Given the description of an element on the screen output the (x, y) to click on. 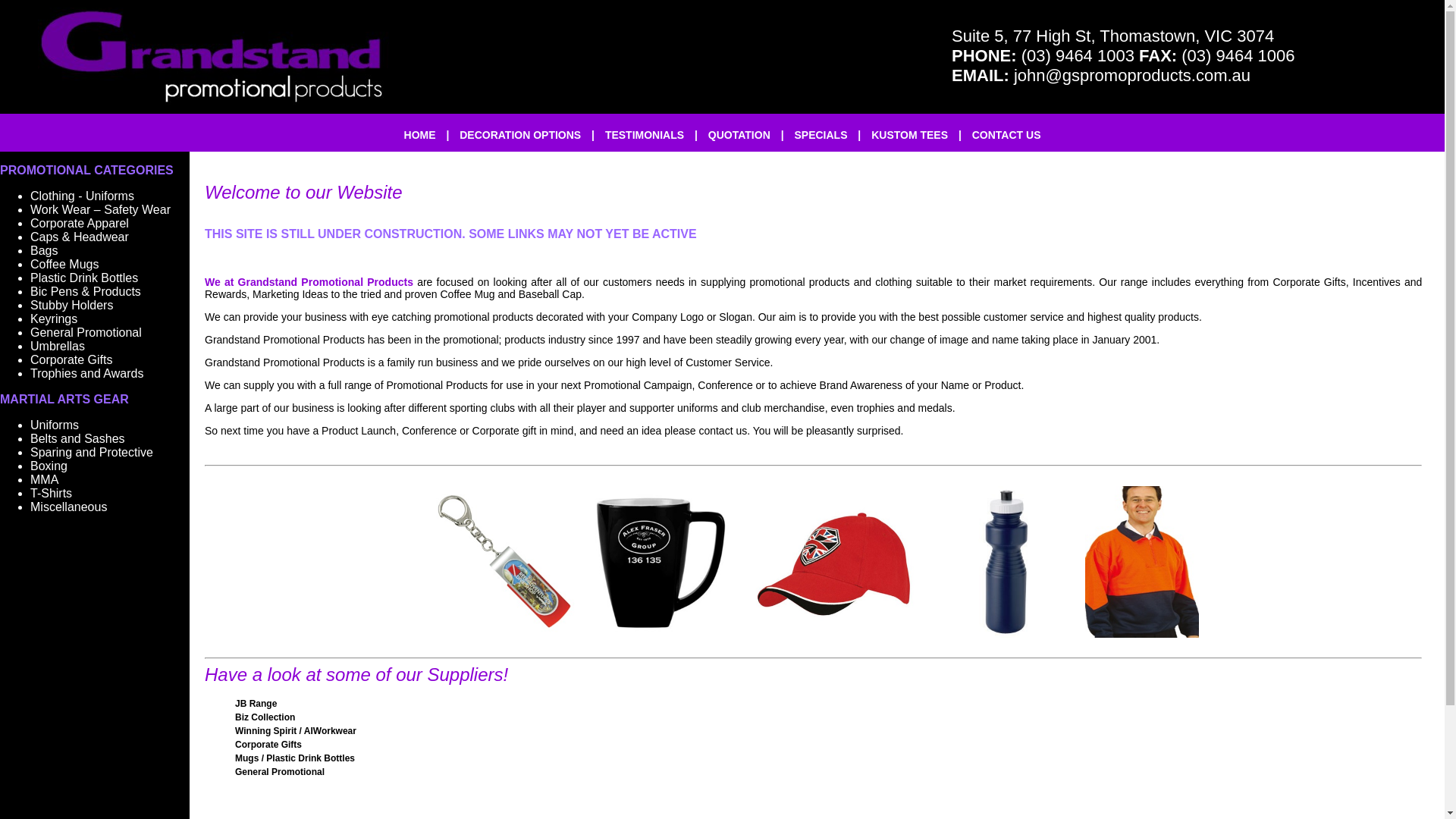
Corporate Gifts Element type: text (268, 744)
TESTIMONIALS Element type: text (644, 134)
KUSTOM TEES Element type: text (909, 134)
Umbrellas Element type: text (57, 345)
Biz Collection Element type: text (264, 717)
QUOTATION Element type: text (739, 134)
Bags Element type: text (43, 250)
Sparing and Protective Element type: text (91, 451)
Clothing - Uniforms Element type: text (82, 195)
Coffee Mugs Element type: text (64, 263)
Uniforms Element type: text (54, 424)
Bic Pens & Products Element type: text (85, 291)
Corporate Gifts Element type: text (71, 359)
Mugs / Plastic Drink Bottles Element type: text (294, 758)
Keyrings Element type: text (53, 318)
Corporate Apparel Element type: text (79, 222)
Miscellaneous Element type: text (68, 506)
DECORATION OPTIONS Element type: text (519, 134)
JB Range Element type: text (255, 703)
SPECIALS Element type: text (820, 134)
MMA Element type: text (44, 479)
Trophies and Awards Element type: text (86, 373)
CONTACT US Element type: text (1006, 134)
HOME Element type: text (419, 134)
T-Shirts Element type: text (51, 492)
Belts and Sashes Element type: text (77, 438)
Winning Spirit / AIWorkwear Element type: text (295, 730)
Caps & Headwear Element type: text (79, 236)
General Promotional Element type: text (279, 771)
General Promotional Element type: text (85, 332)
Boxing Element type: text (48, 465)
Plastic Drink Bottles Element type: text (84, 277)
Stubby Holders Element type: text (71, 304)
